Given the description of an element on the screen output the (x, y) to click on. 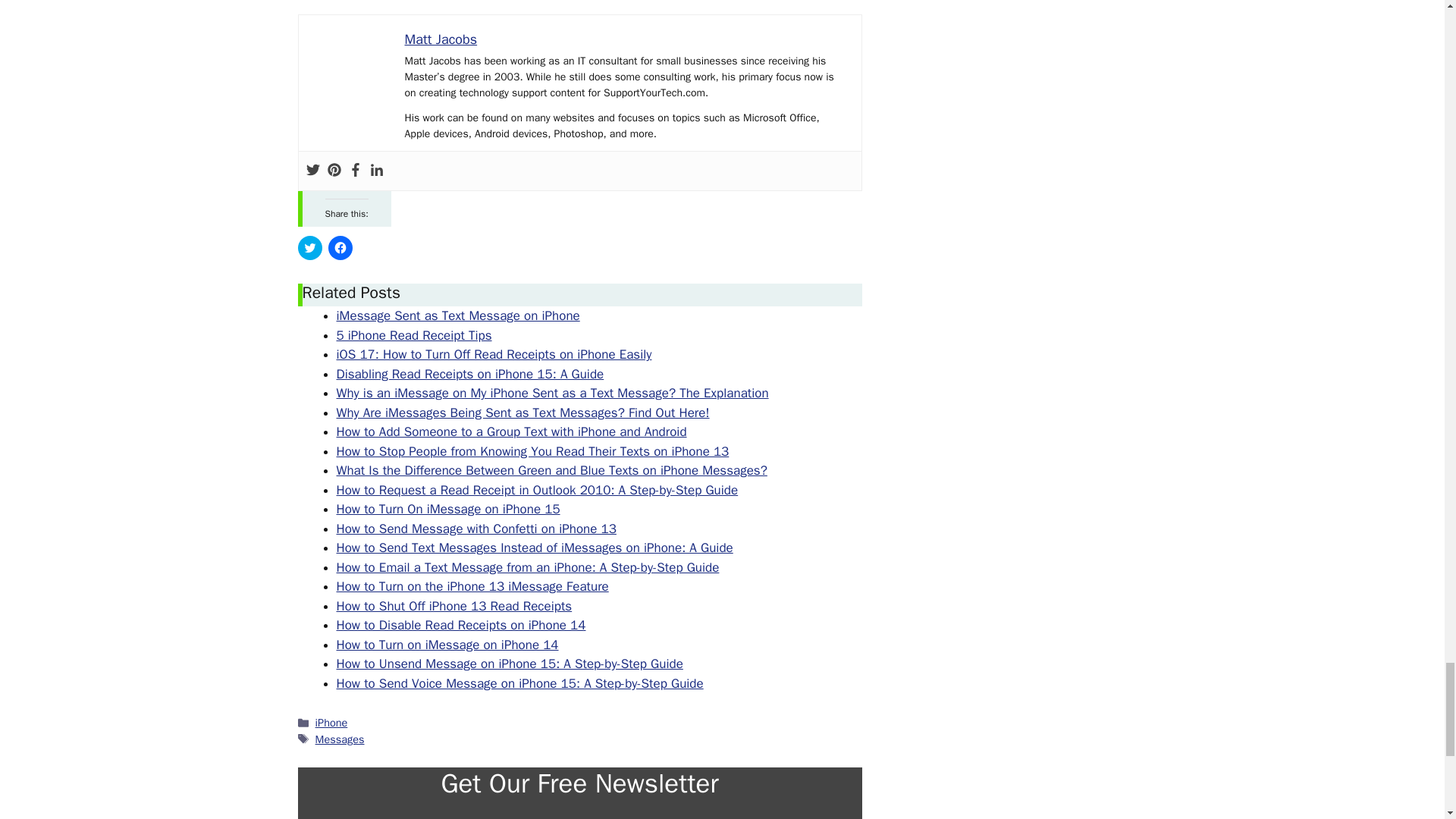
5 iPhone Read Receipt Tips (414, 335)
How to Add Someone to a Group Text with iPhone and Android (511, 431)
What Does Delivered Mean on an iPhone? 4 (352, 101)
Disabling Read Receipts on iPhone 15: A Guide (470, 374)
iMessage Sent as Text Message on iPhone (457, 315)
iOS 17: How to Turn Off Read Receipts on iPhone Easily (494, 354)
